Given the description of an element on the screen output the (x, y) to click on. 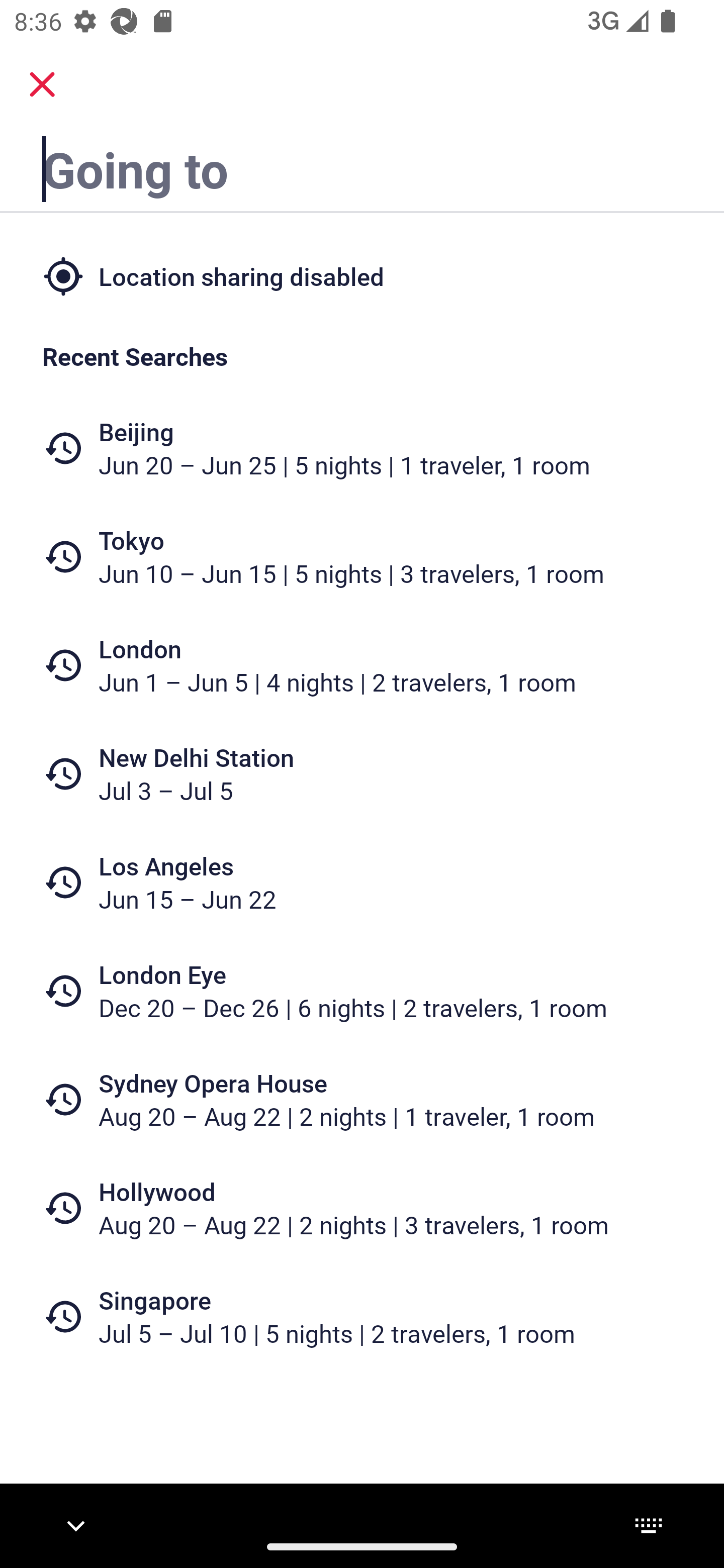
close. (42, 84)
Location sharing disabled (362, 275)
New Delhi Station Jul 3 – Jul 5 (362, 773)
Los Angeles Jun 15 – Jun 22 (362, 881)
